Given the description of an element on the screen output the (x, y) to click on. 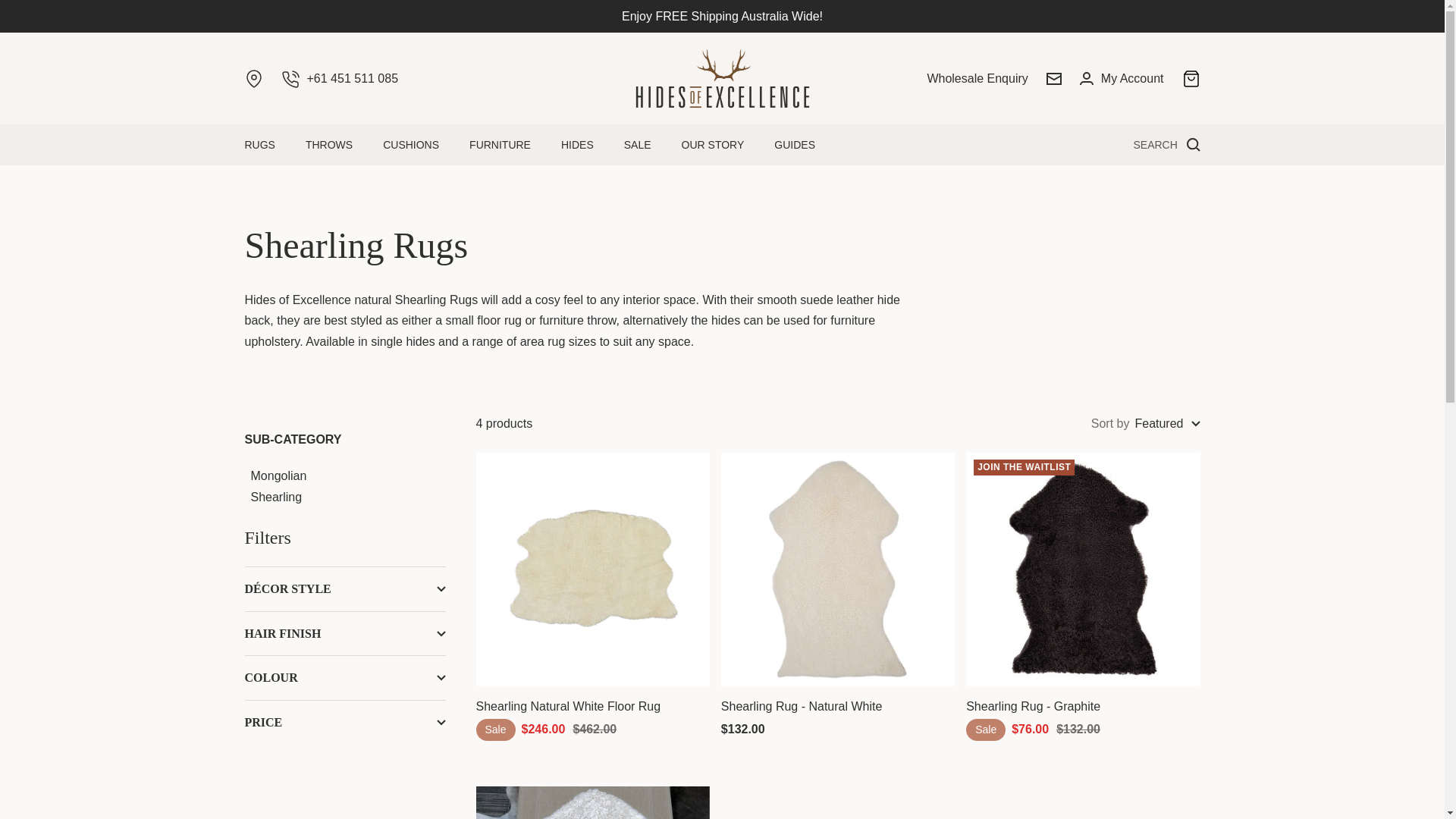
Wholesale Enquiry (976, 78)
SUB-CATEGORY (344, 439)
Featured (1166, 423)
Shearling Rug - Natural White (837, 706)
HAIR FINISH (344, 633)
Mongolian (277, 475)
My Account (1121, 78)
FURNITURE (499, 144)
CUSHIONS (410, 144)
OUR STORY (712, 144)
Shearling (275, 496)
PRICE (344, 722)
Hides Of Excellence (721, 78)
Shearling Natural White Floor Rug (593, 706)
COLOUR (344, 678)
